Given the description of an element on the screen output the (x, y) to click on. 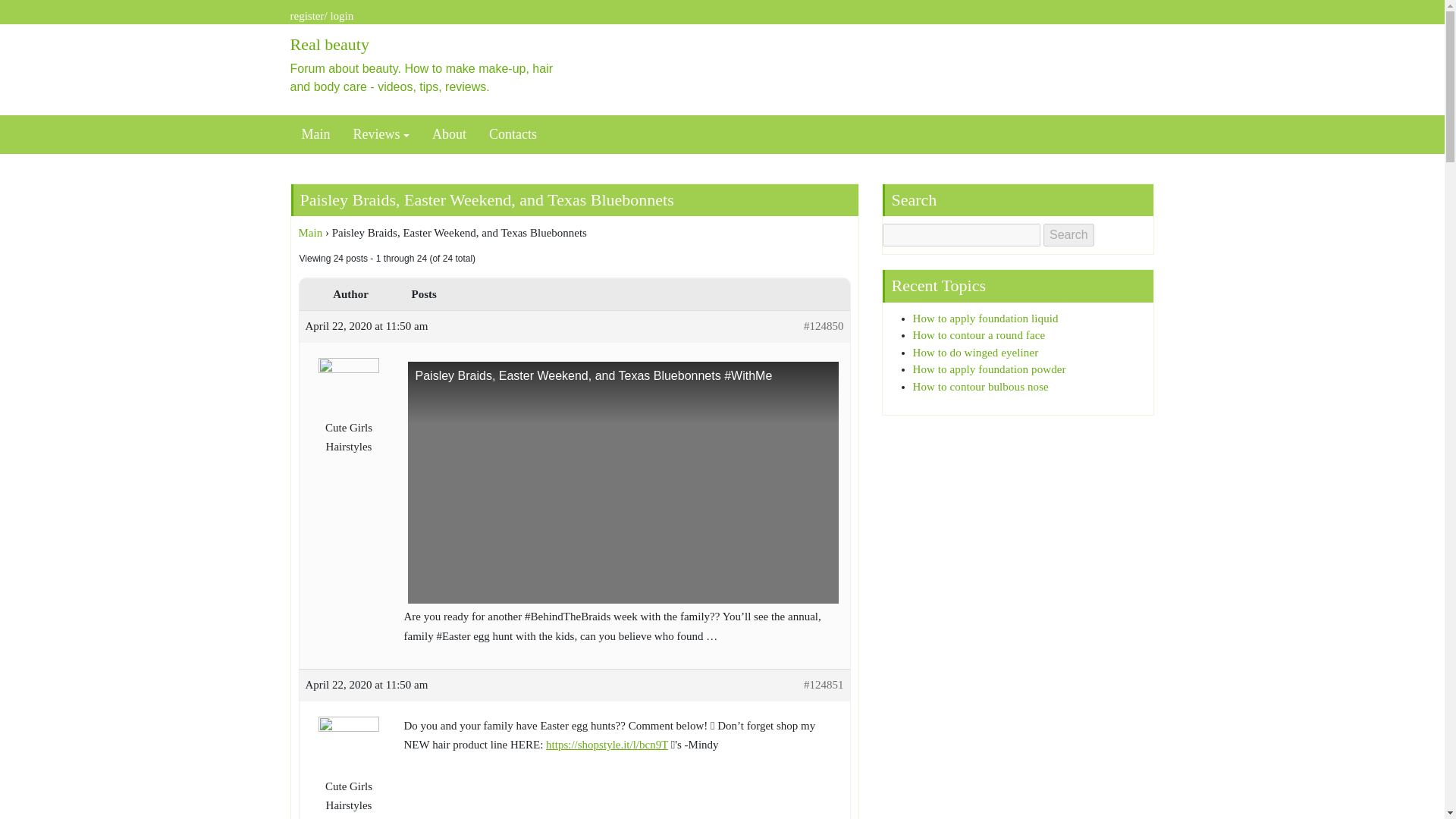
login (341, 15)
Main (310, 232)
register (306, 15)
About (448, 134)
Contacts (512, 134)
Reviews (380, 134)
Main (314, 134)
Search (1068, 234)
